Given the description of an element on the screen output the (x, y) to click on. 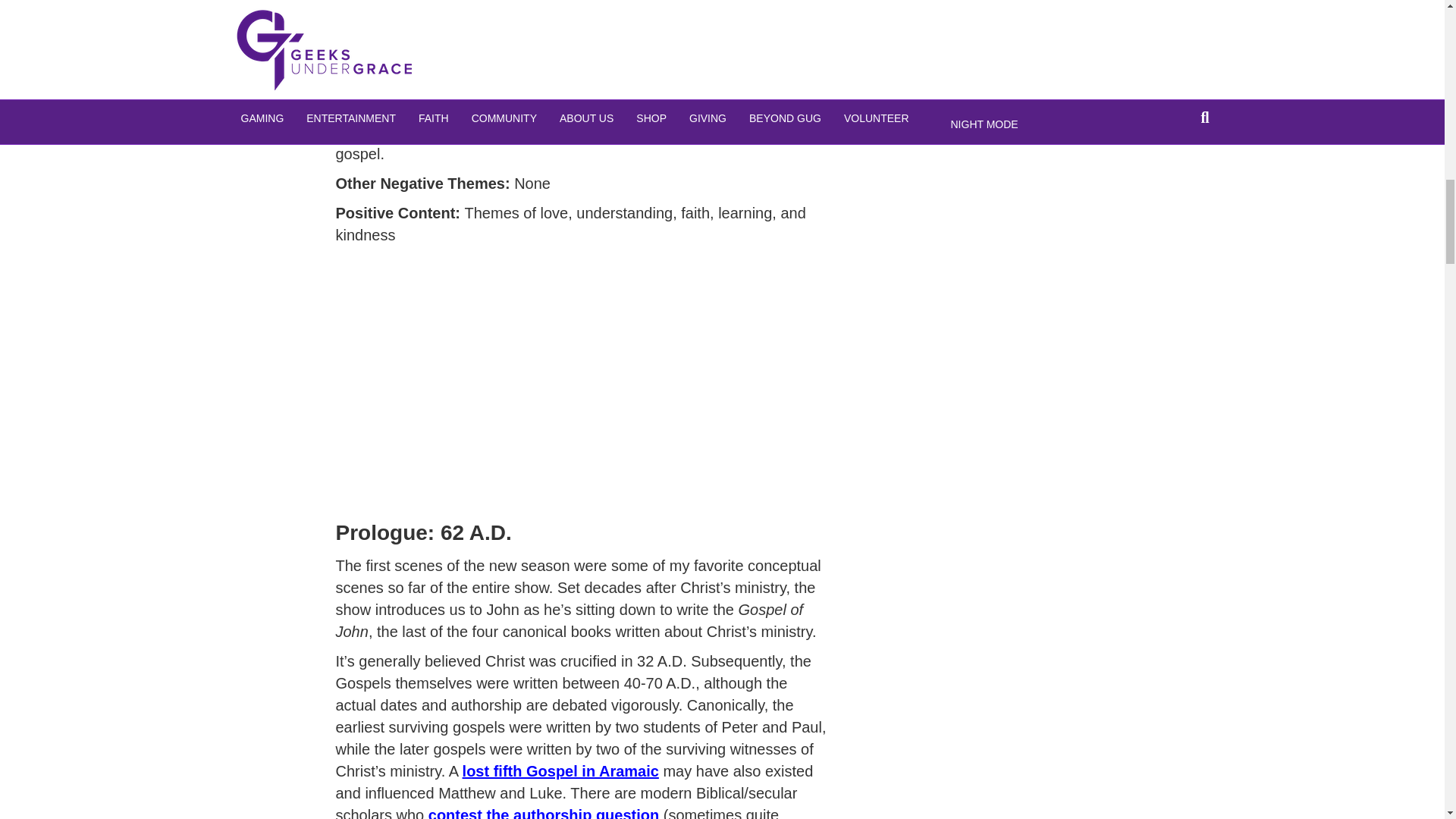
lost fifth Gospel in Aramaic (561, 770)
